Given the description of an element on the screen output the (x, y) to click on. 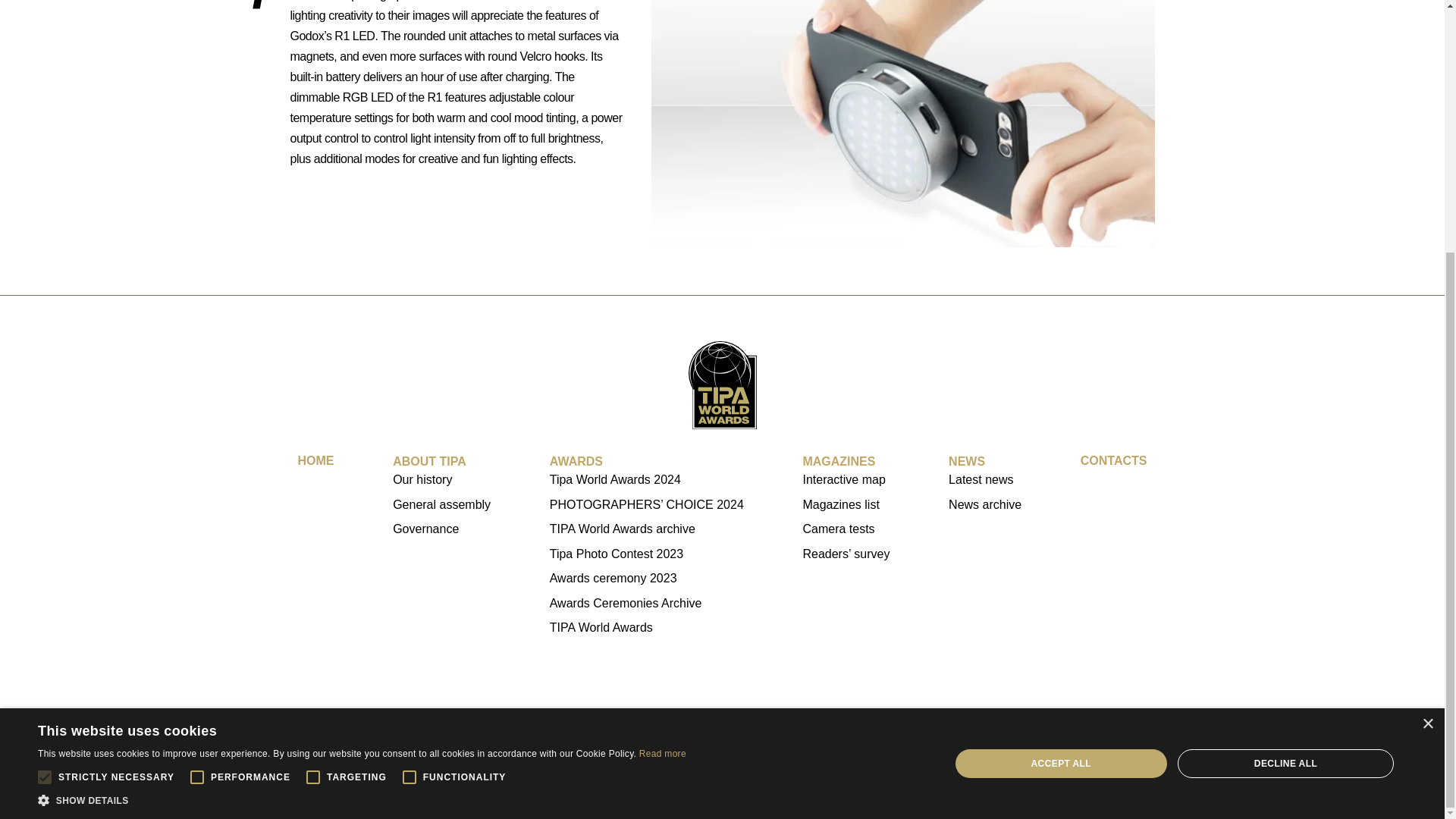
Tipa World Awards 2024 (647, 479)
Governance (441, 529)
Godox R1 - TIPA WORLD AWARDS (902, 123)
General assembly (441, 505)
AWARDS (576, 461)
HOME (315, 461)
ABOUT TIPA (429, 461)
Our history (441, 479)
